Given the description of an element on the screen output the (x, y) to click on. 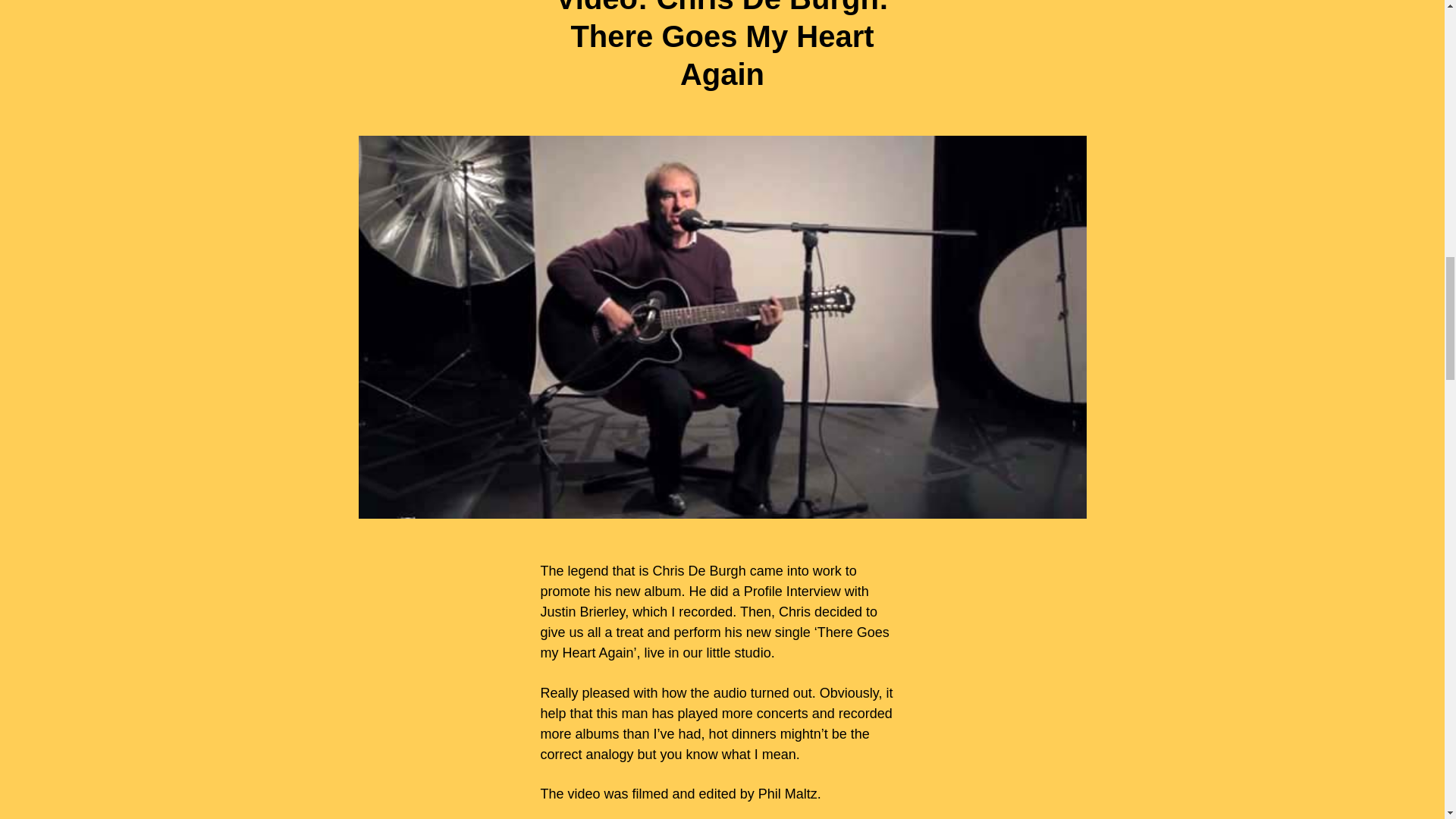
Video: Chris De Burgh: There Goes My Heart Again (722, 46)
